Given the description of an element on the screen output the (x, y) to click on. 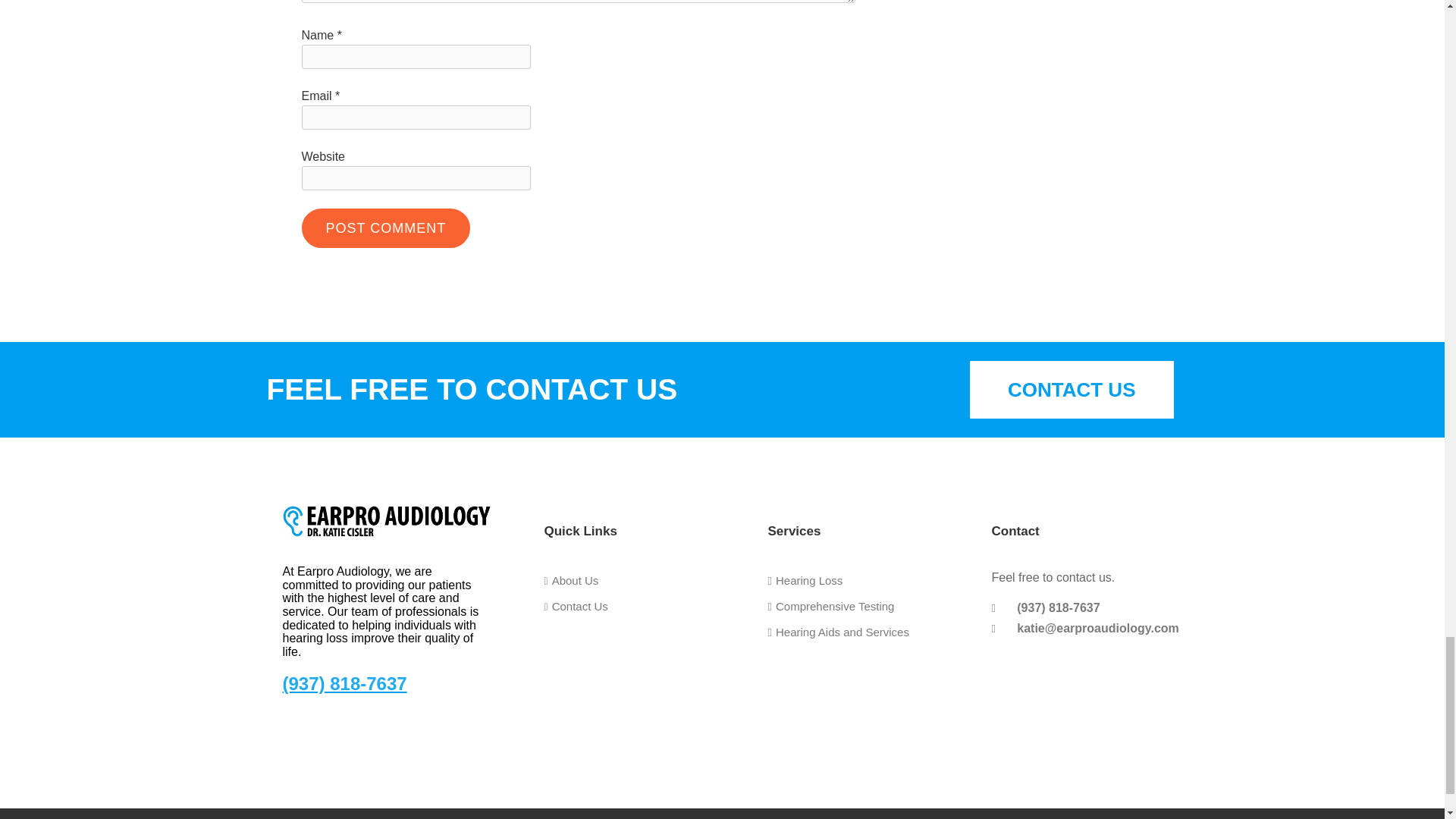
Contact Us (576, 606)
Post Comment (385, 228)
CONTACT US (1071, 389)
Post Comment (385, 228)
About Us (571, 580)
